Given the description of an element on the screen output the (x, y) to click on. 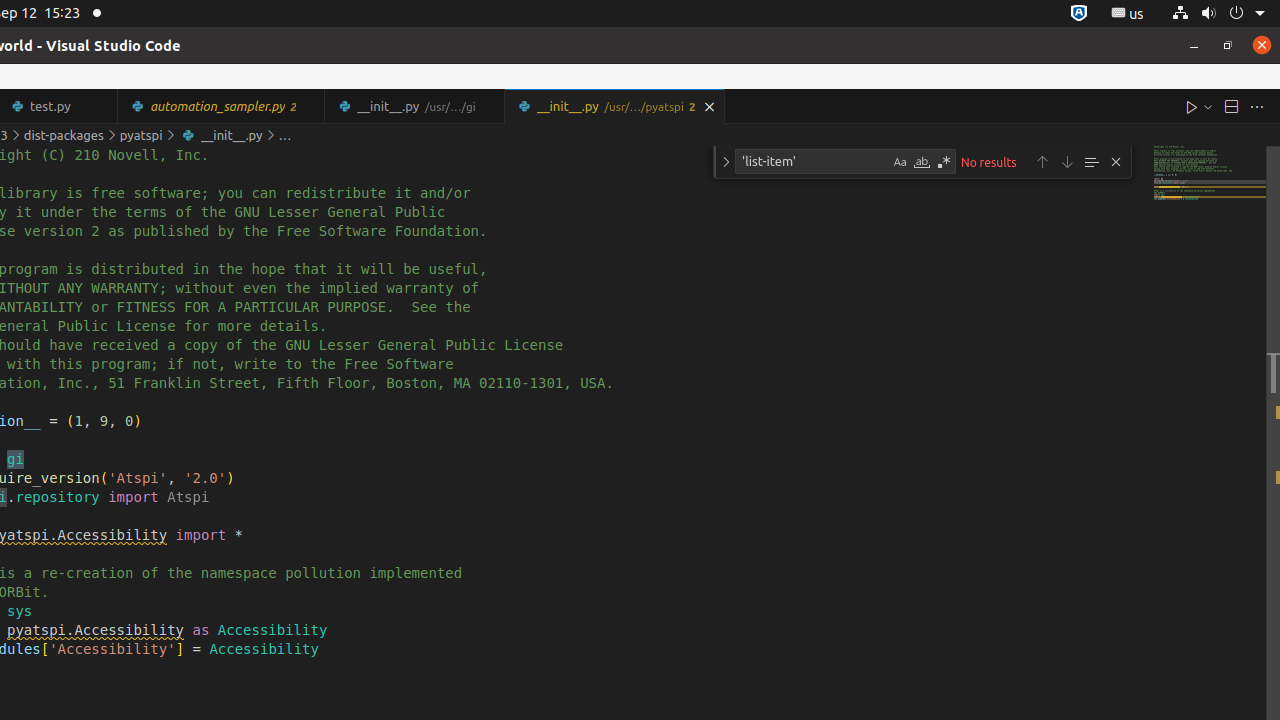
Split Editor Right (Ctrl+\) [Alt] Split Editor Down Element type: push-button (1231, 106)
Match Whole Word (Alt+W) Element type: check-box (922, 162)
Run Python File Element type: push-button (1192, 106)
Previous Match (Shift+Enter) Element type: push-button (1042, 161)
Match Case (Alt+C) Element type: check-box (900, 162)
